Given the description of an element on the screen output the (x, y) to click on. 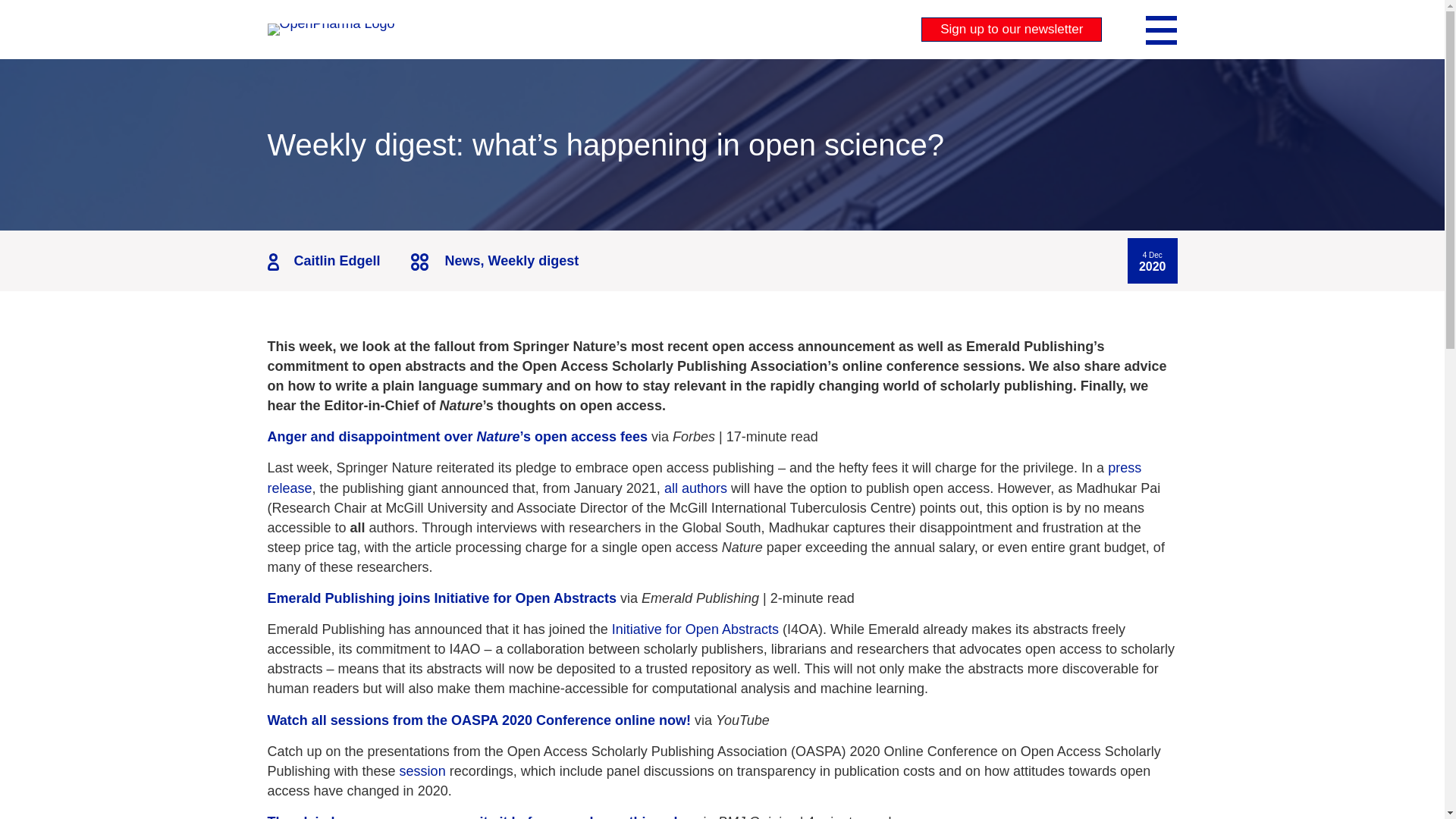
Weekly digest (533, 260)
Initiative for Open Abstracts (694, 629)
press release (703, 477)
session (421, 770)
all authors (694, 488)
News (462, 260)
Search (29, 12)
OpenPharma Logo (330, 29)
Sign up to our newsletter (1011, 29)
